Given the description of an element on the screen output the (x, y) to click on. 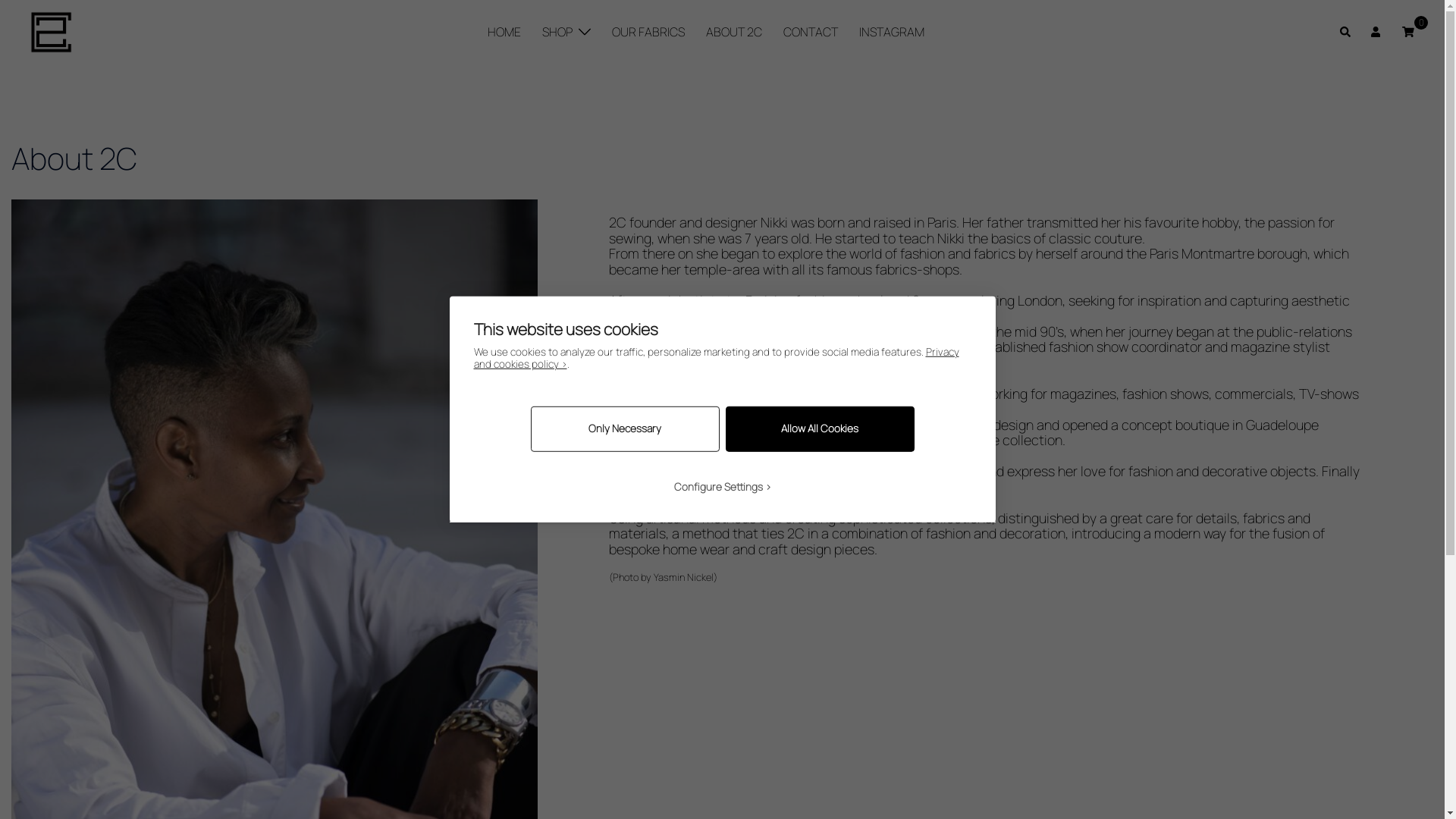
Allow All Cookies Element type: text (818, 428)
SHOP Element type: text (557, 31)
INSTAGRAM Element type: text (891, 31)
Your account Element type: hover (1377, 32)
ABOUT 2C Element type: text (734, 31)
Only Necessary Element type: text (624, 428)
CONTACT Element type: text (810, 31)
0 Element type: text (1408, 31)
Search Element type: text (1345, 32)
HOME Element type: text (503, 31)
OUR FABRICS Element type: text (647, 31)
2C Fabrics Element type: hover (51, 30)
Configure Settings Element type: text (722, 486)
